Given the description of an element on the screen output the (x, y) to click on. 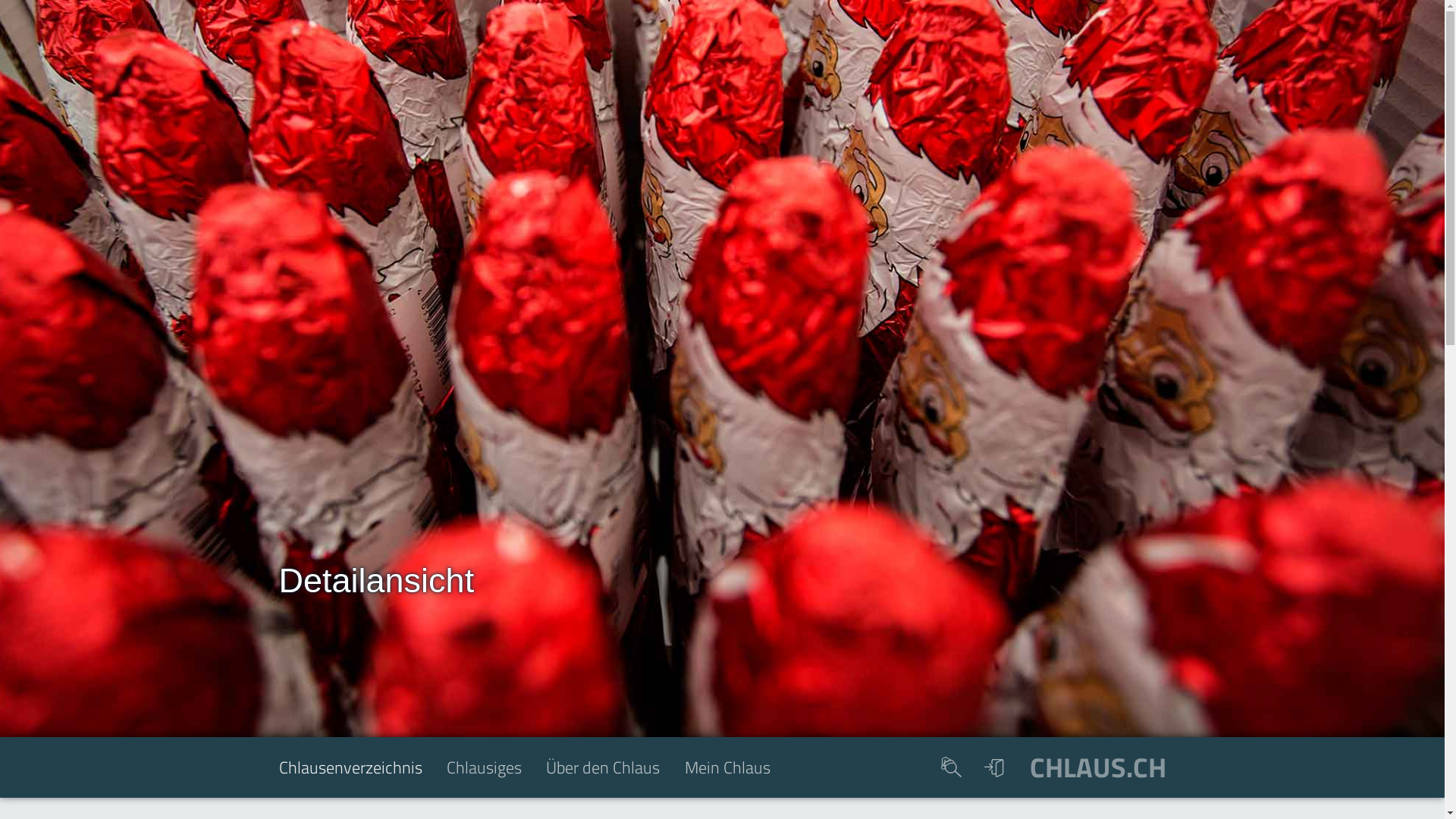
CHLAUS.CH Element type: text (1097, 766)
Mein Chlaus Element type: text (739, 771)
Login Element type: hover (994, 767)
Chlaus finden Element type: hover (950, 767)
Chlausiges Element type: text (496, 771)
Chlausenverzeichnis Element type: text (362, 771)
